Given the description of an element on the screen output the (x, y) to click on. 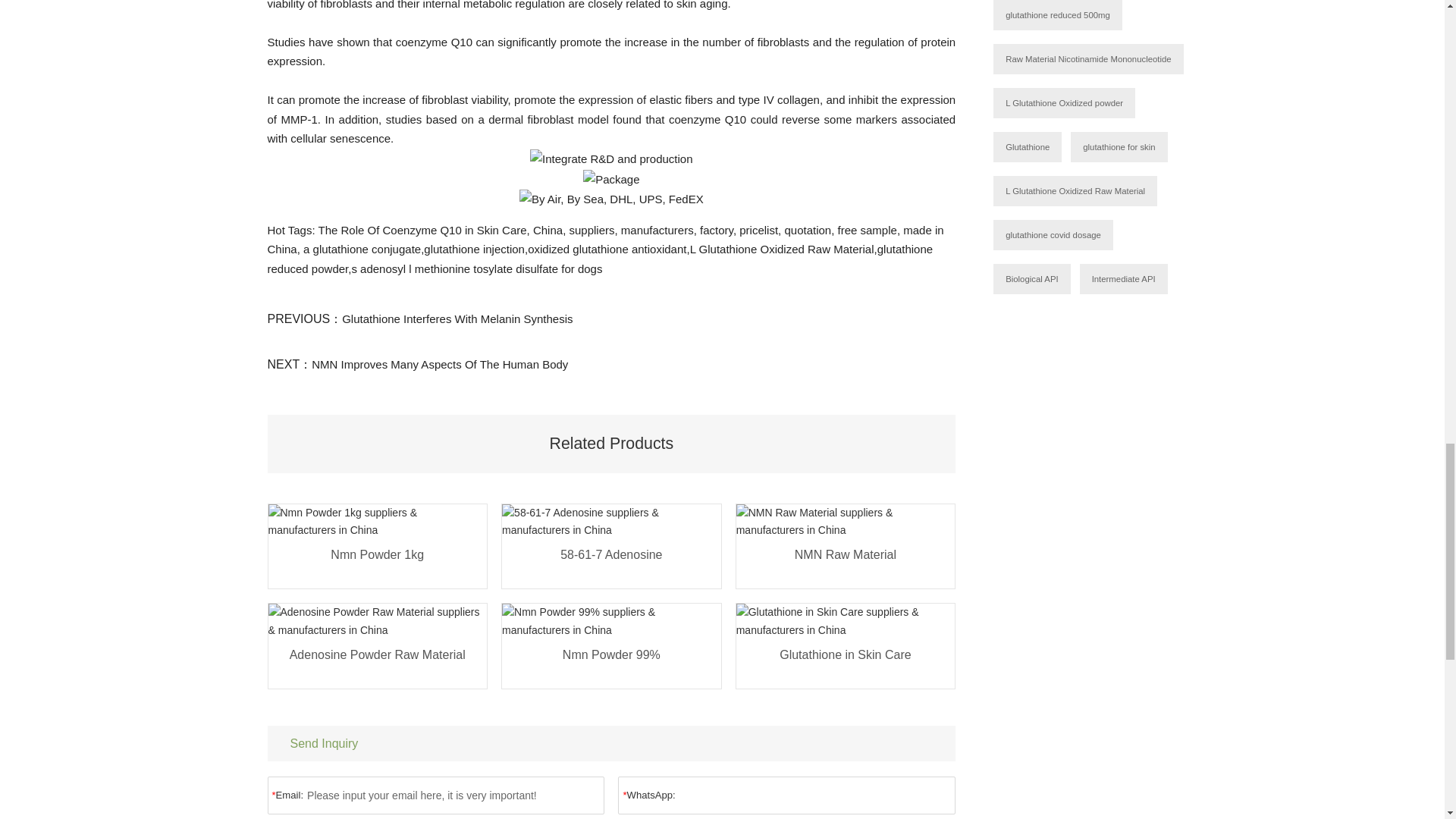
Adenosine Powder Raw Material (377, 664)
glutathione reduced powder (599, 258)
NMN Raw Material (845, 564)
NMN Improves Many Aspects Of The Human Body (439, 364)
s adenosyl l methionine tosylate disulfate for dogs (476, 268)
L Glutathione Oxidized Raw Material (782, 248)
58-61-7 Adenosine (611, 564)
Adenosine Powder Raw Material (377, 664)
Glutathione Interferes With Melanin Synthesis (457, 318)
By Air, By Sea, DHL, UPS, FedEX (611, 199)
